Given the description of an element on the screen output the (x, y) to click on. 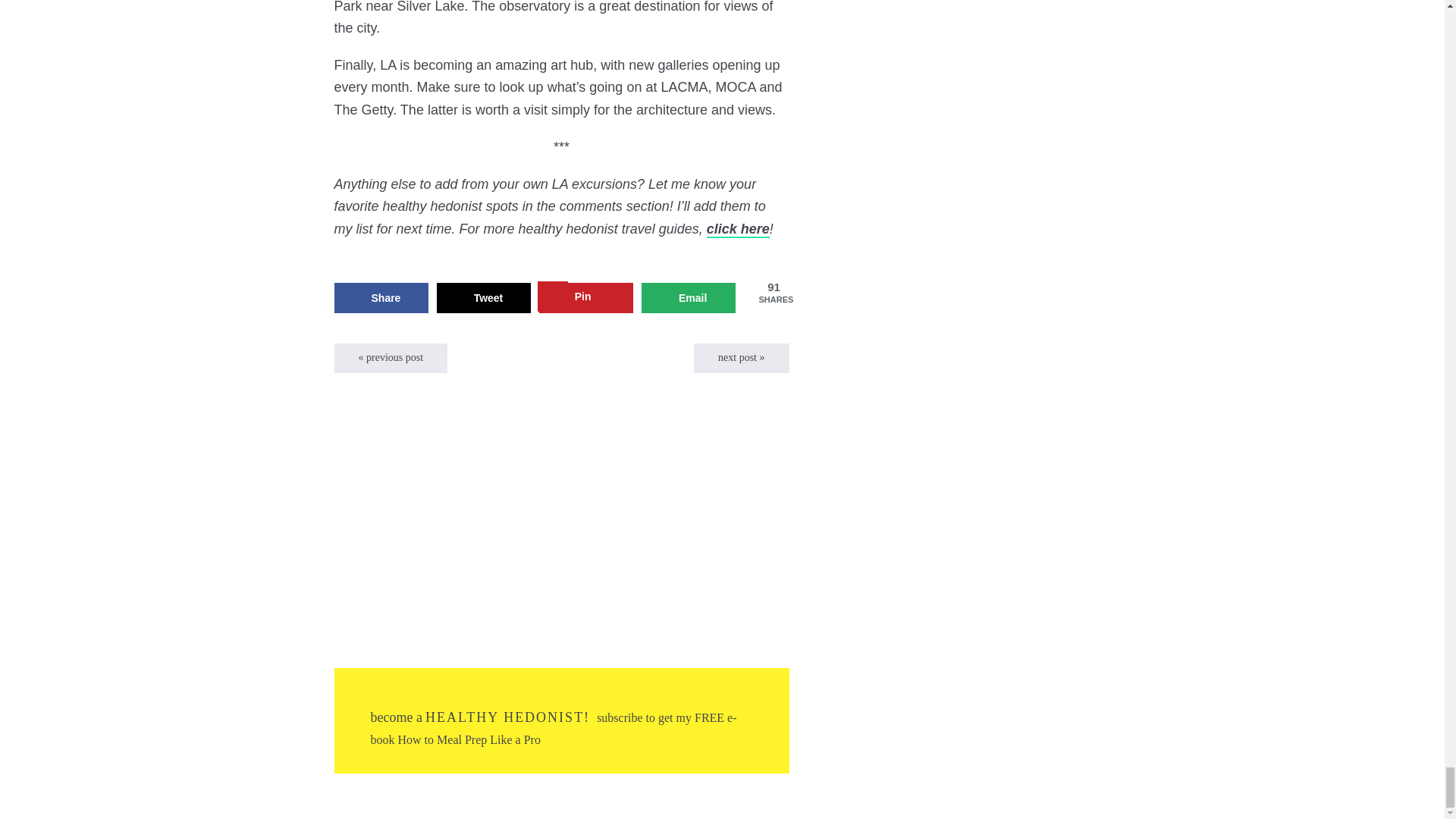
Share on X (483, 297)
Send over email (689, 297)
Save to Pinterest (585, 297)
Share on Facebook (380, 297)
